Given the description of an element on the screen output the (x, y) to click on. 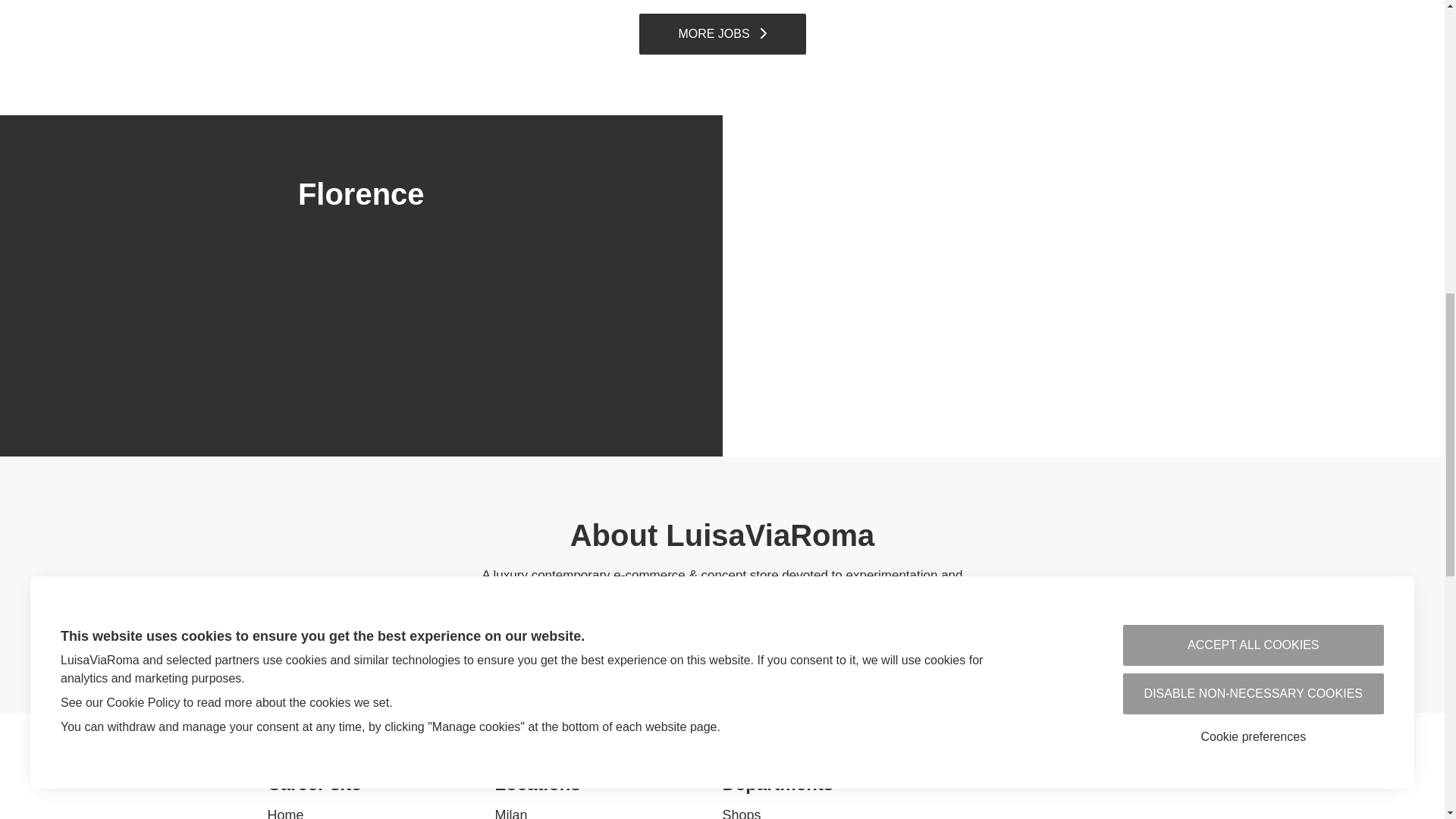
Milan (511, 811)
Home (284, 811)
MORE JOBS (722, 33)
Shops (741, 811)
